Given the description of an element on the screen output the (x, y) to click on. 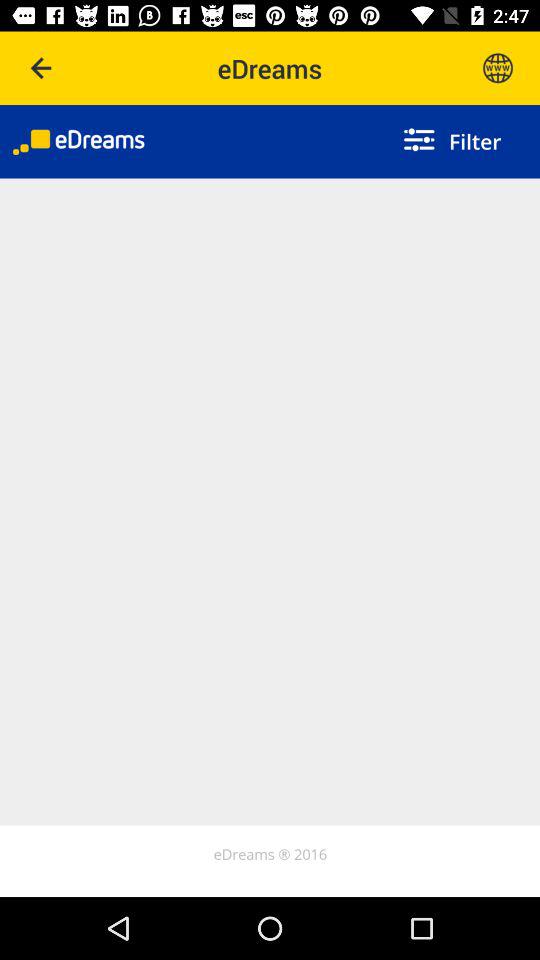
go to previous (42, 68)
